Given the description of an element on the screen output the (x, y) to click on. 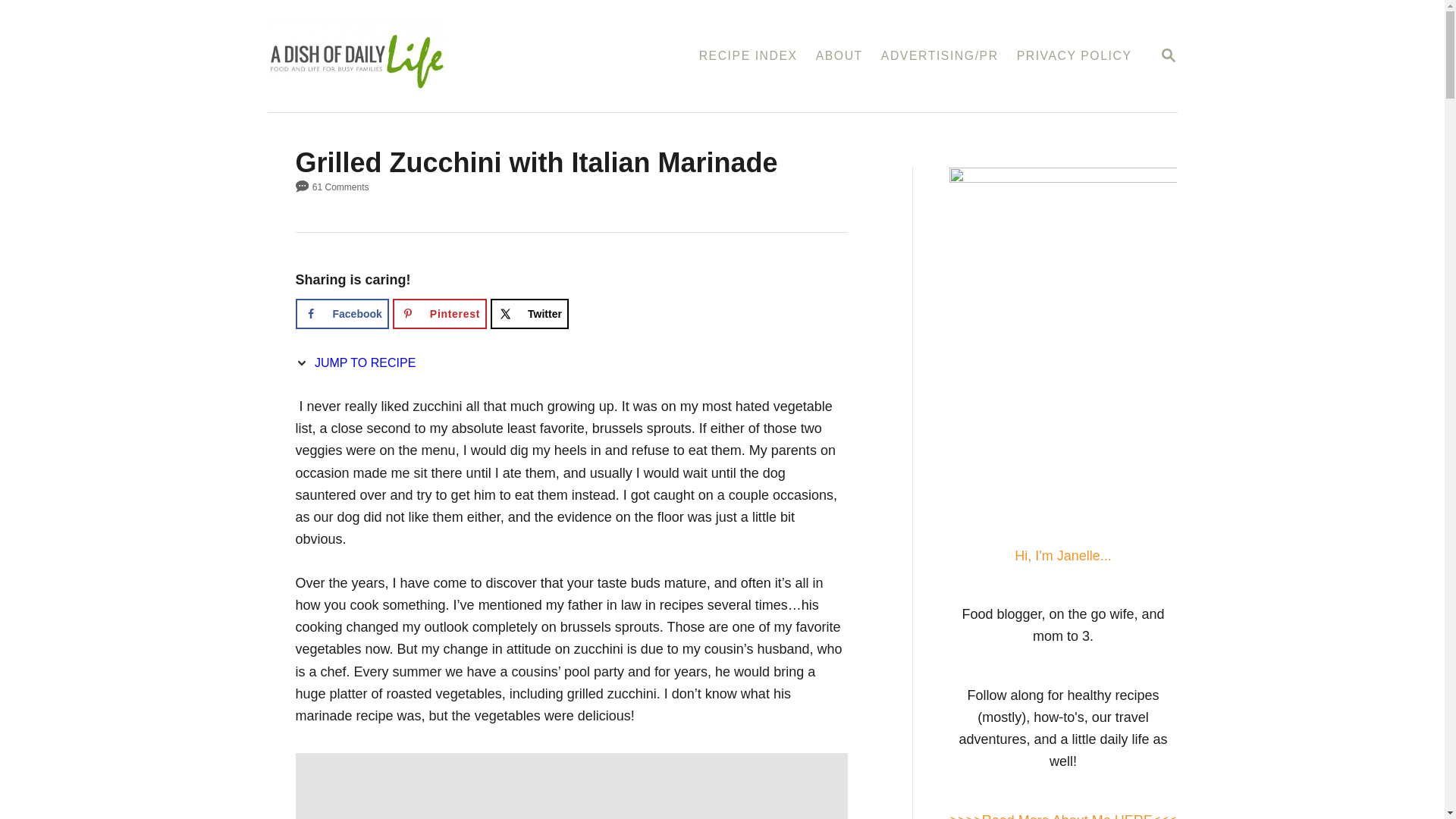
MAGNIFYING GLASS (1167, 54)
RECIPE INDEX (748, 55)
Save to Pinterest (439, 313)
A Dish of Daily Life (429, 56)
Share on X (529, 313)
Pinterest (439, 313)
Facebook (341, 313)
ABOUT (839, 55)
Twitter (1168, 55)
Share on Facebook (529, 313)
PRIVACY POLICY (341, 313)
JUMP TO RECIPE (1074, 55)
